Given the description of an element on the screen output the (x, y) to click on. 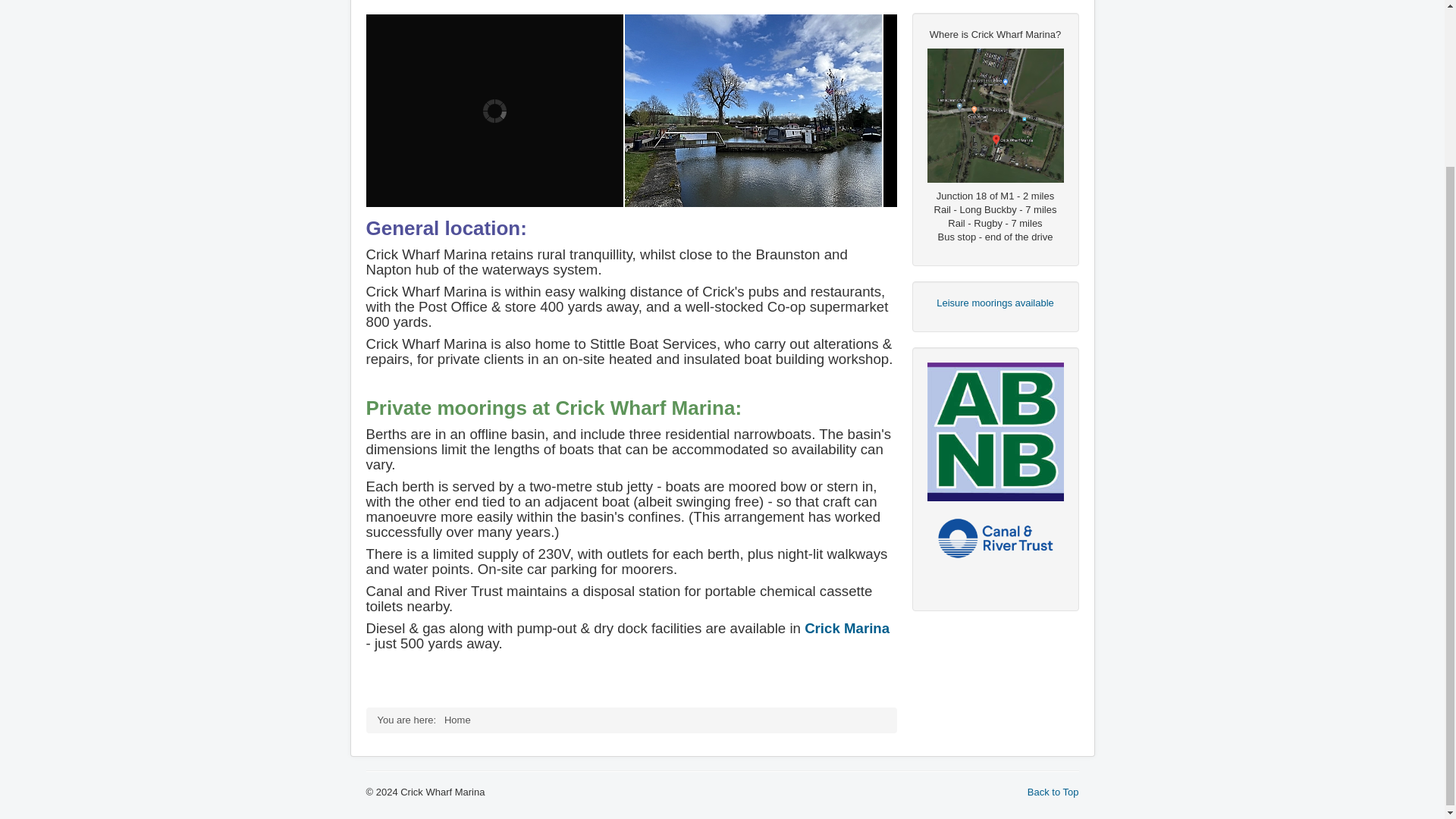
Crick Wharf Marina map (994, 115)
Back to Top (1052, 791)
Leisure moorings available (995, 302)
Crick Marina (847, 627)
